Given the description of an element on the screen output the (x, y) to click on. 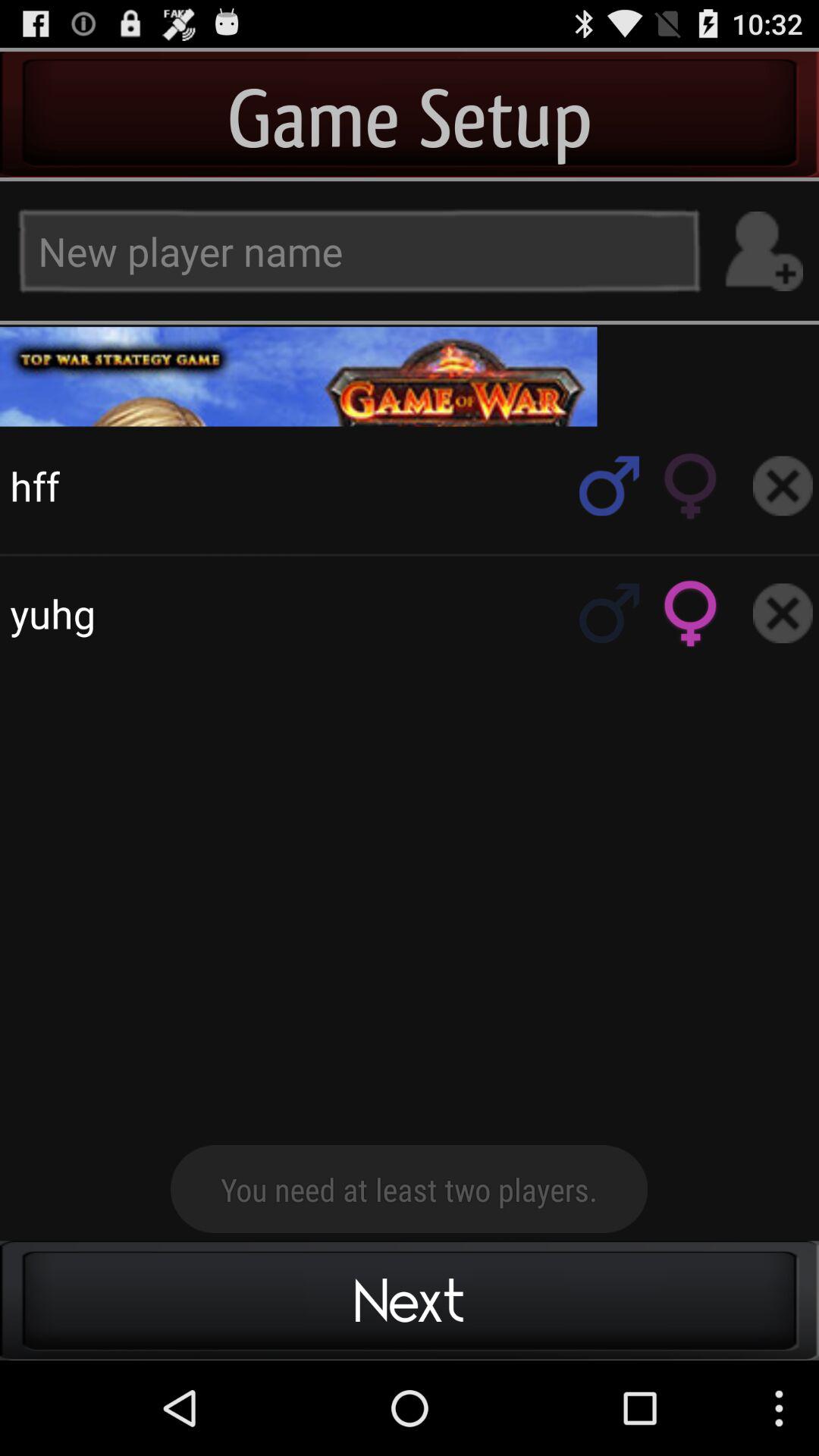
add new player (763, 251)
